Given the description of an element on the screen output the (x, y) to click on. 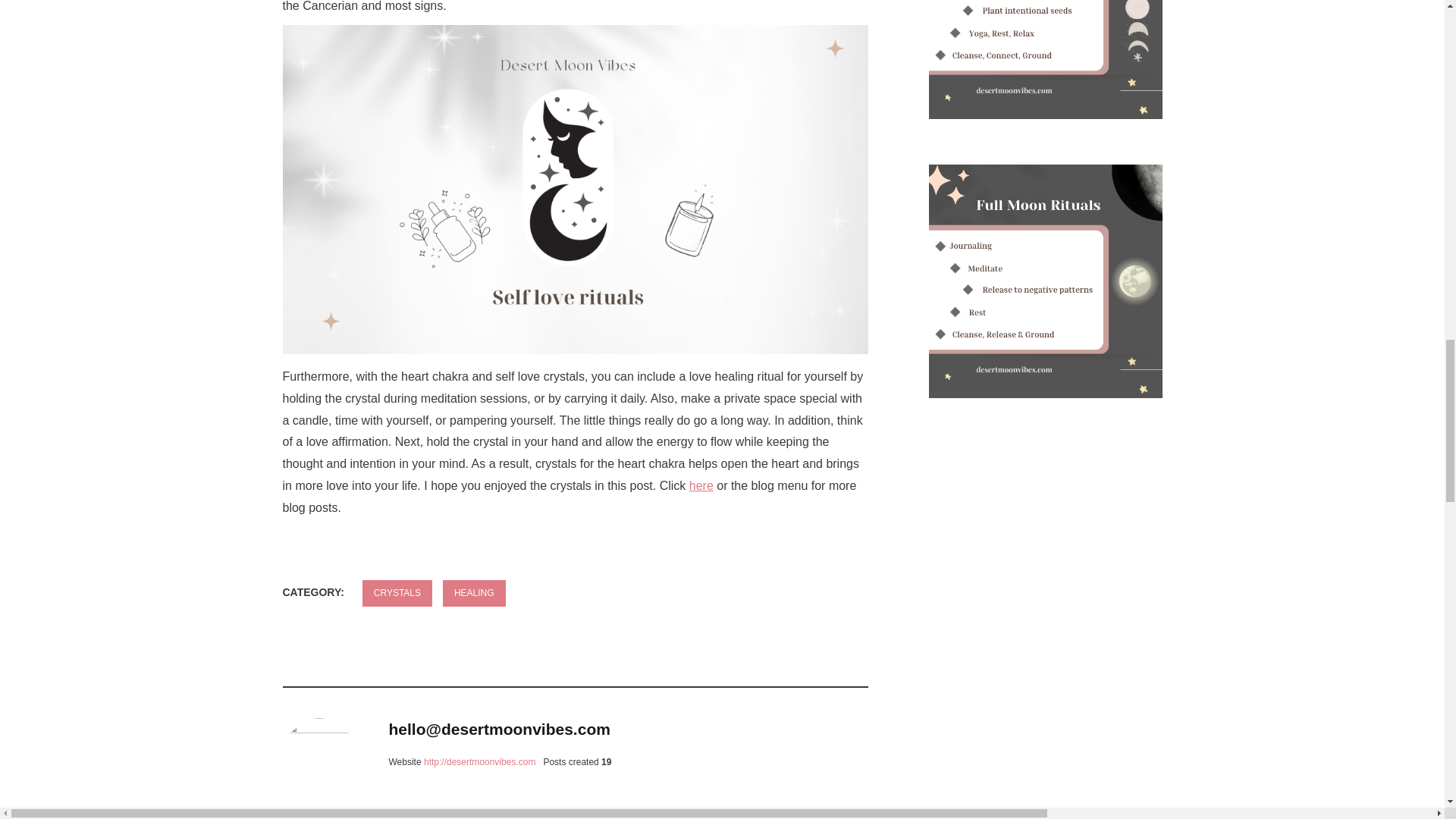
CRYSTALS (397, 592)
HEALING (473, 592)
here (700, 485)
